Given the description of an element on the screen output the (x, y) to click on. 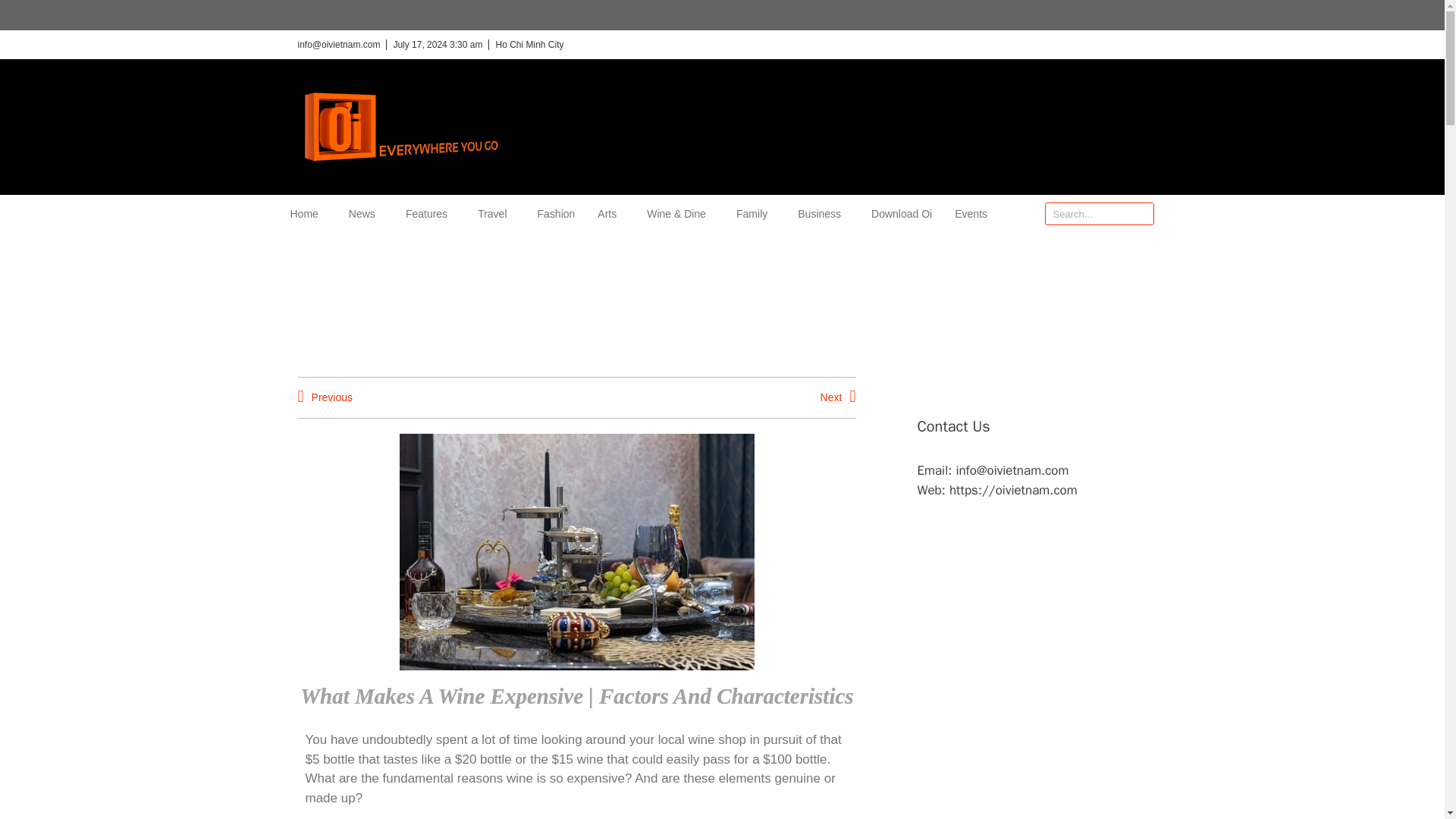
Fashion (556, 213)
Travel (495, 213)
Business (822, 213)
News (365, 213)
Home (306, 213)
Features (430, 213)
Family (755, 213)
